Given the description of an element on the screen output the (x, y) to click on. 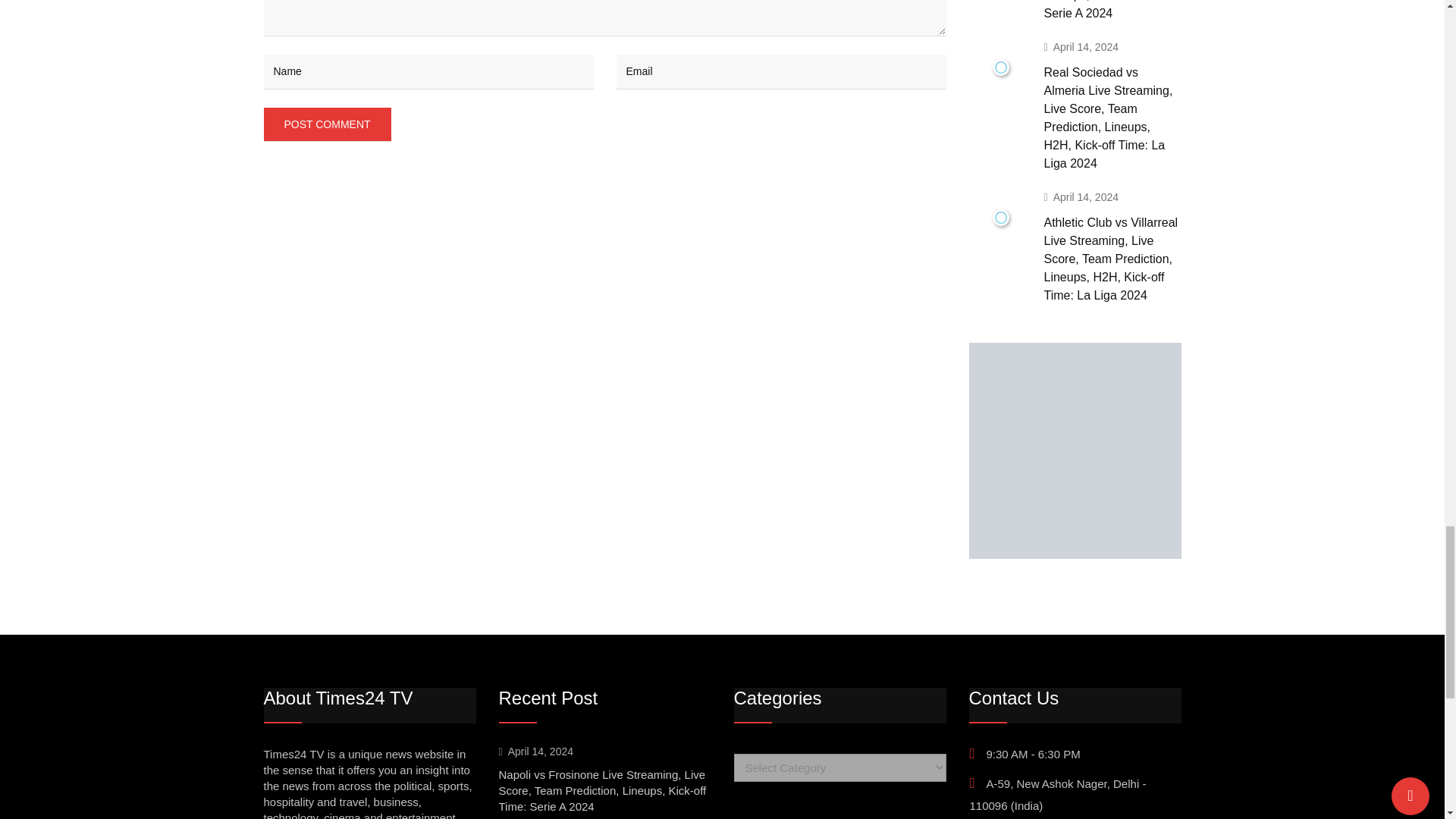
Post Comment (327, 123)
